Given the description of an element on the screen output the (x, y) to click on. 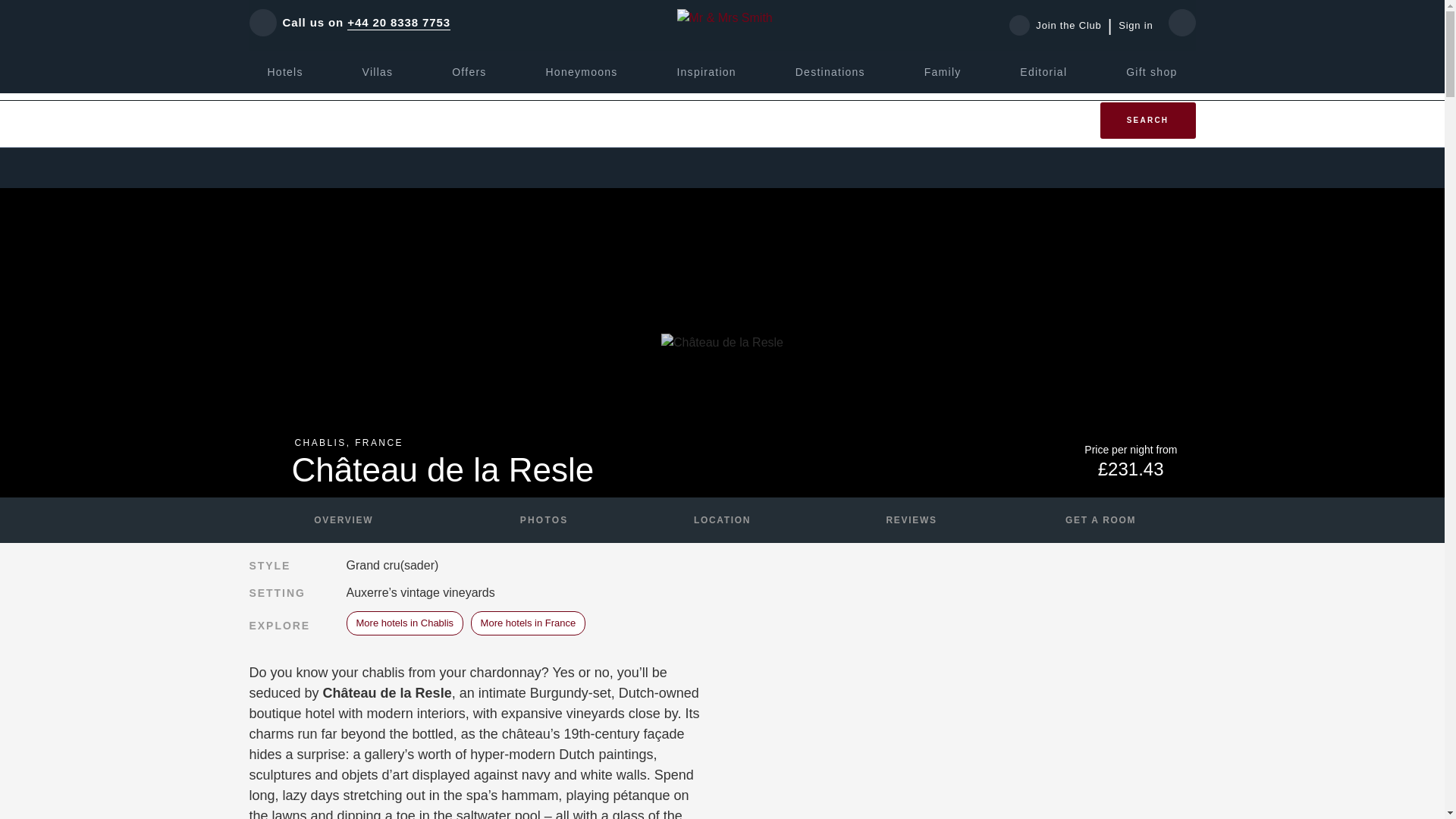
PHOTOS (532, 520)
Sign in (1135, 25)
Inspiration (706, 72)
OVERVIEW (343, 520)
Honeymoons (580, 72)
More hotels in France (528, 622)
CHABLIS (320, 442)
Destinations (829, 72)
Editorial (1043, 72)
Offers (468, 72)
More hotels in Chablis (404, 622)
SEARCH (1147, 120)
Villas (377, 72)
Gift shop (1150, 72)
